Given the description of an element on the screen output the (x, y) to click on. 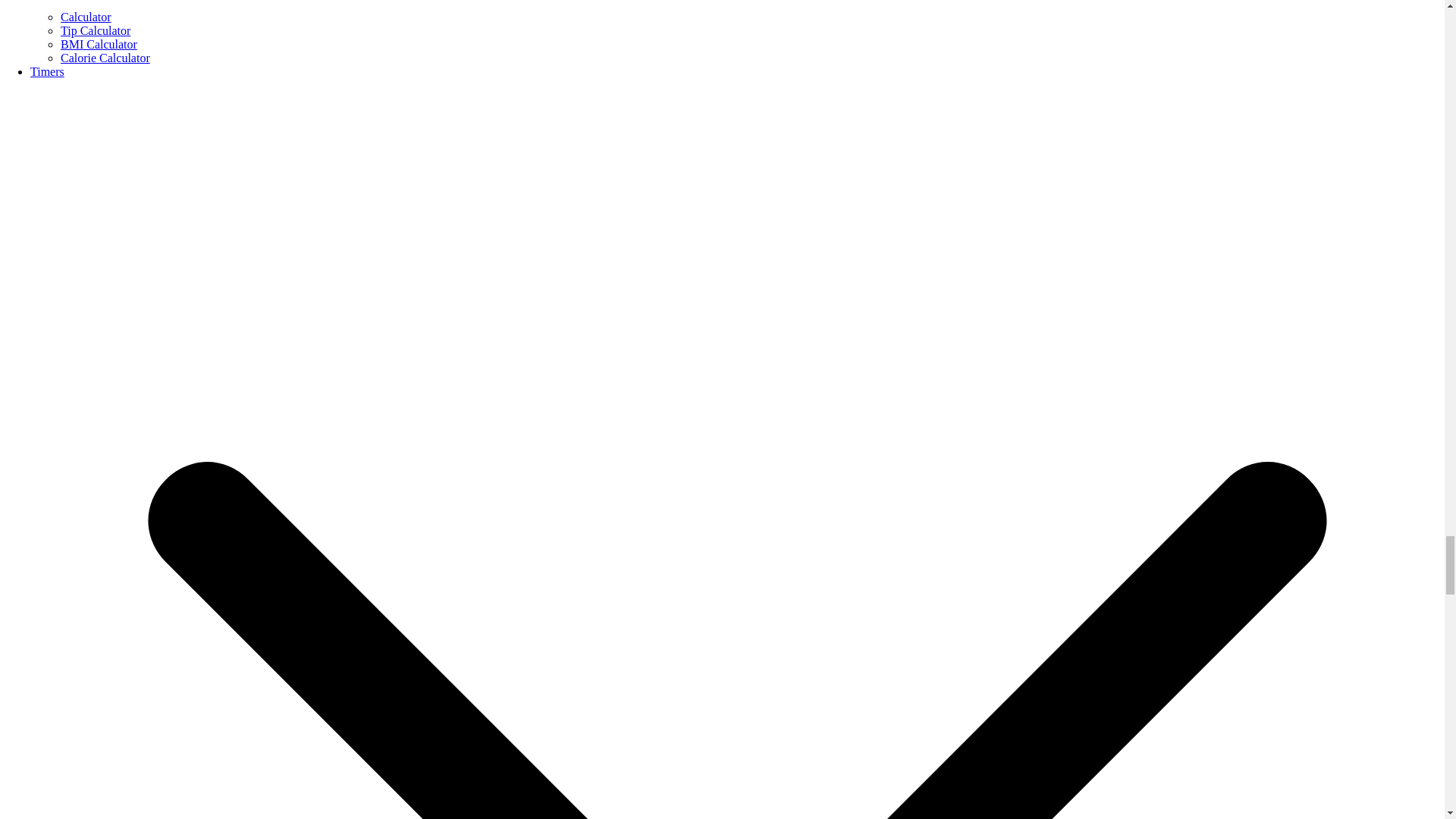
BMI Calculator (98, 43)
Tip Calculator (96, 30)
Calculator (86, 16)
Calorie Calculator (105, 57)
Timers (47, 71)
